Given the description of an element on the screen output the (x, y) to click on. 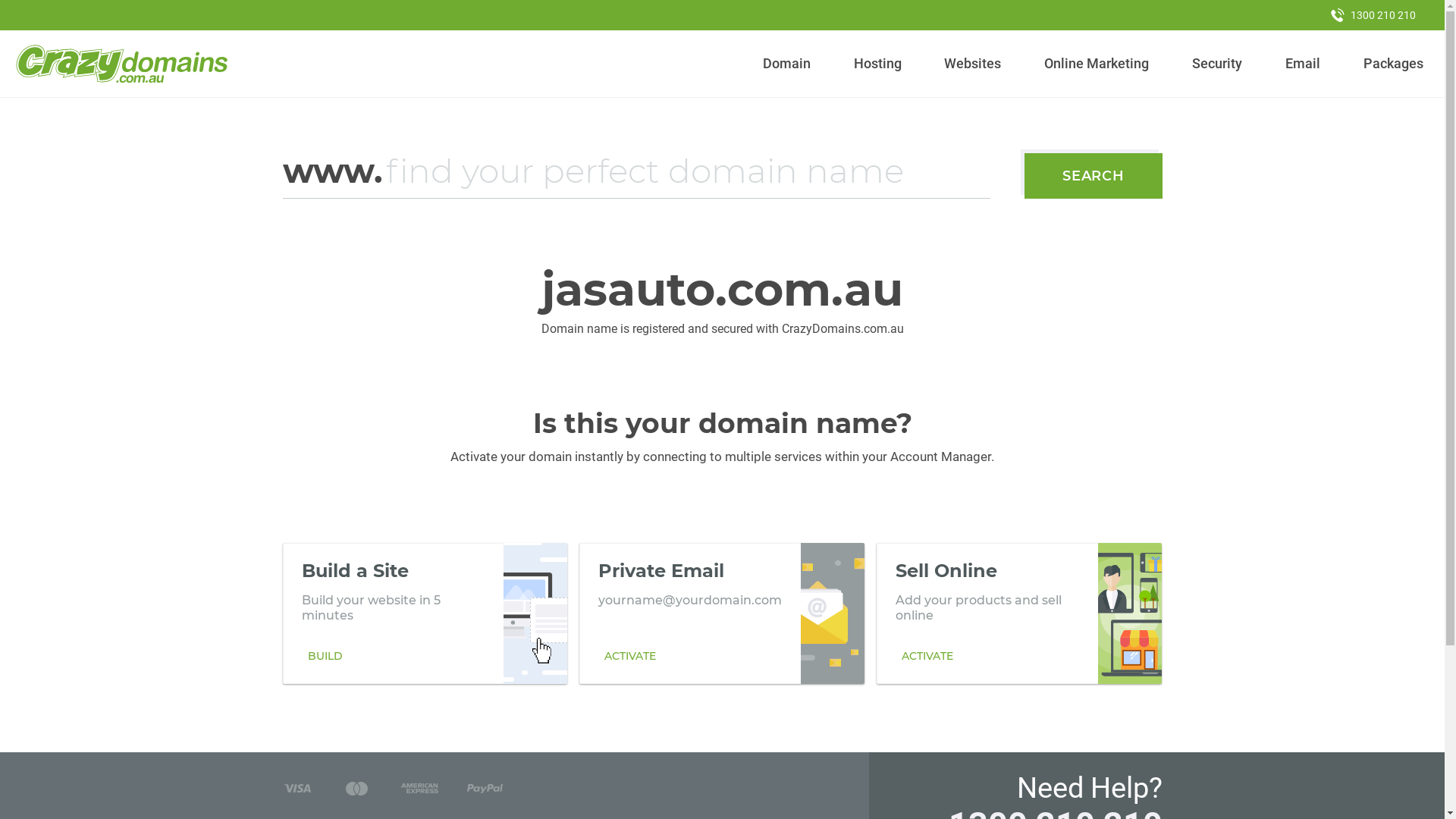
Hosting Element type: text (877, 63)
Security Element type: text (1217, 63)
Packages Element type: text (1392, 63)
Websites Element type: text (972, 63)
1300 210 210 Element type: text (1373, 15)
Domain Element type: text (786, 63)
Online Marketing Element type: text (1096, 63)
Email Element type: text (1302, 63)
Sell Online
Add your products and sell online
ACTIVATE Element type: text (1018, 613)
Build a Site
Build your website in 5 minutes
BUILD Element type: text (424, 613)
Private Email
yourname@yourdomain.com
ACTIVATE Element type: text (721, 613)
SEARCH Element type: text (1092, 175)
